Given the description of an element on the screen output the (x, y) to click on. 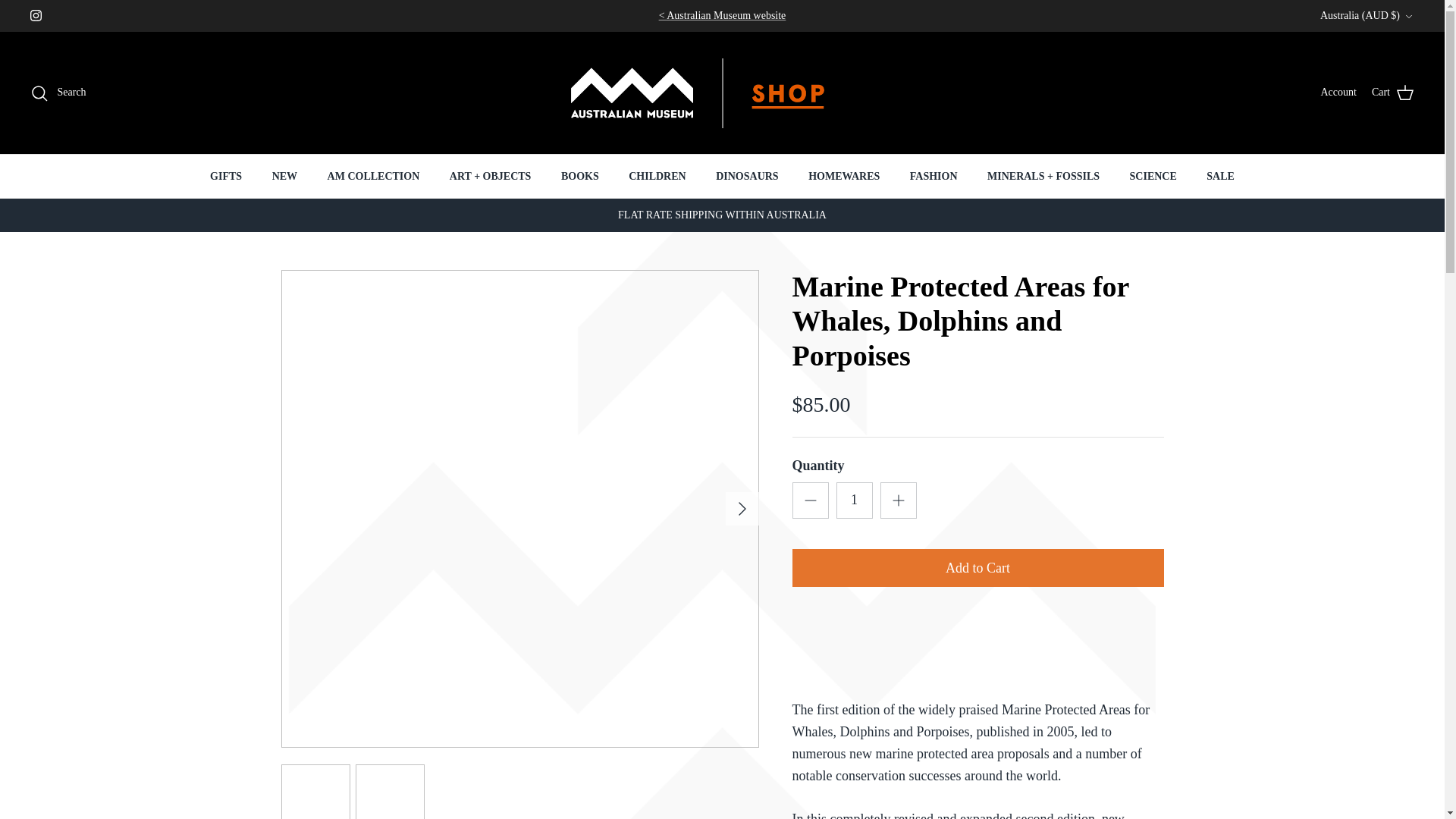
Instagram (36, 15)
1 (853, 500)
Right (741, 508)
Australian Museum (722, 15)
Plus (897, 500)
Australian Museum Shop (721, 92)
Minus (809, 500)
Down (1408, 16)
Instagram (36, 15)
